Given the description of an element on the screen output the (x, y) to click on. 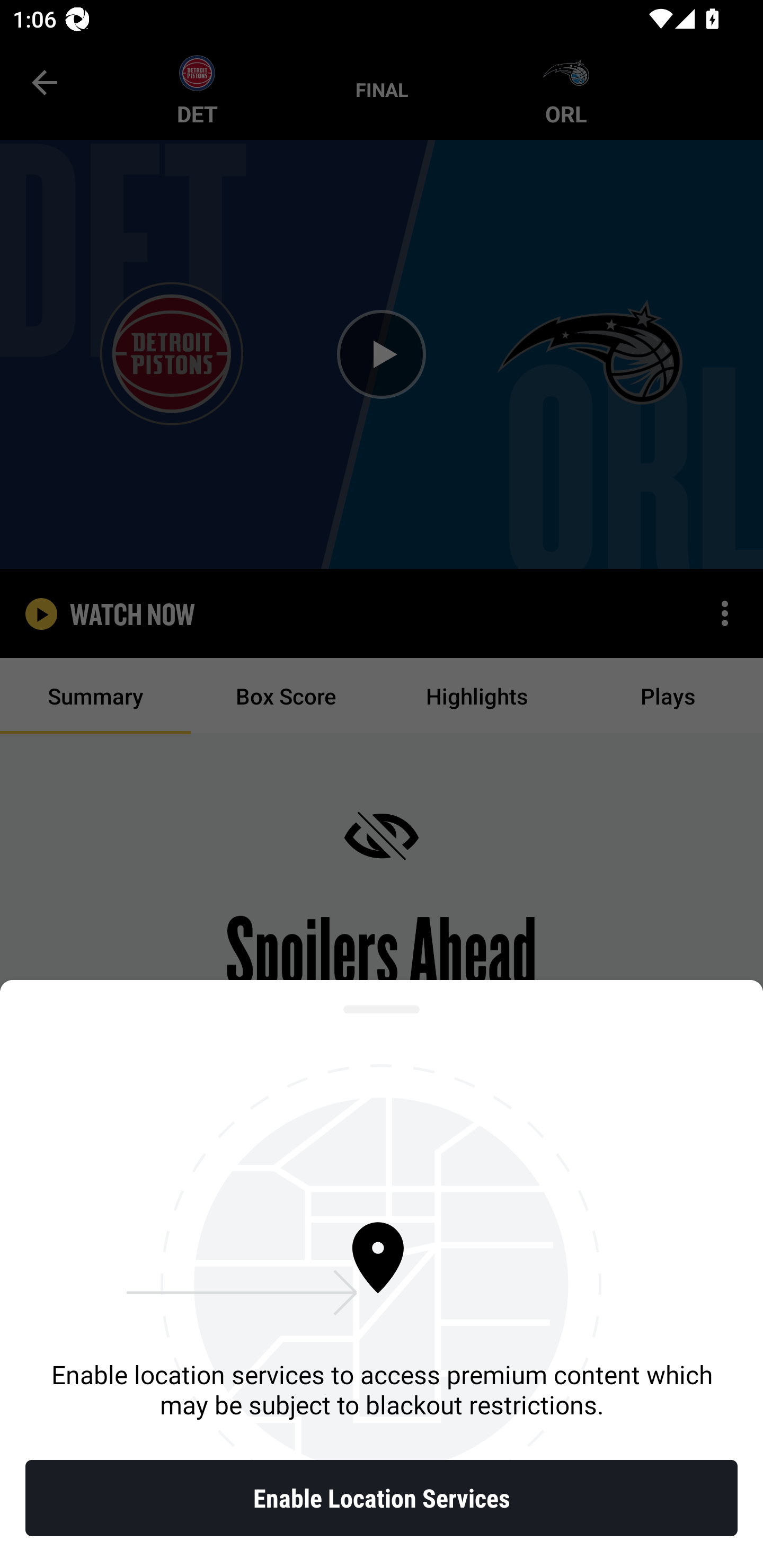
Enable Location Services (381, 1497)
